Given the description of an element on the screen output the (x, y) to click on. 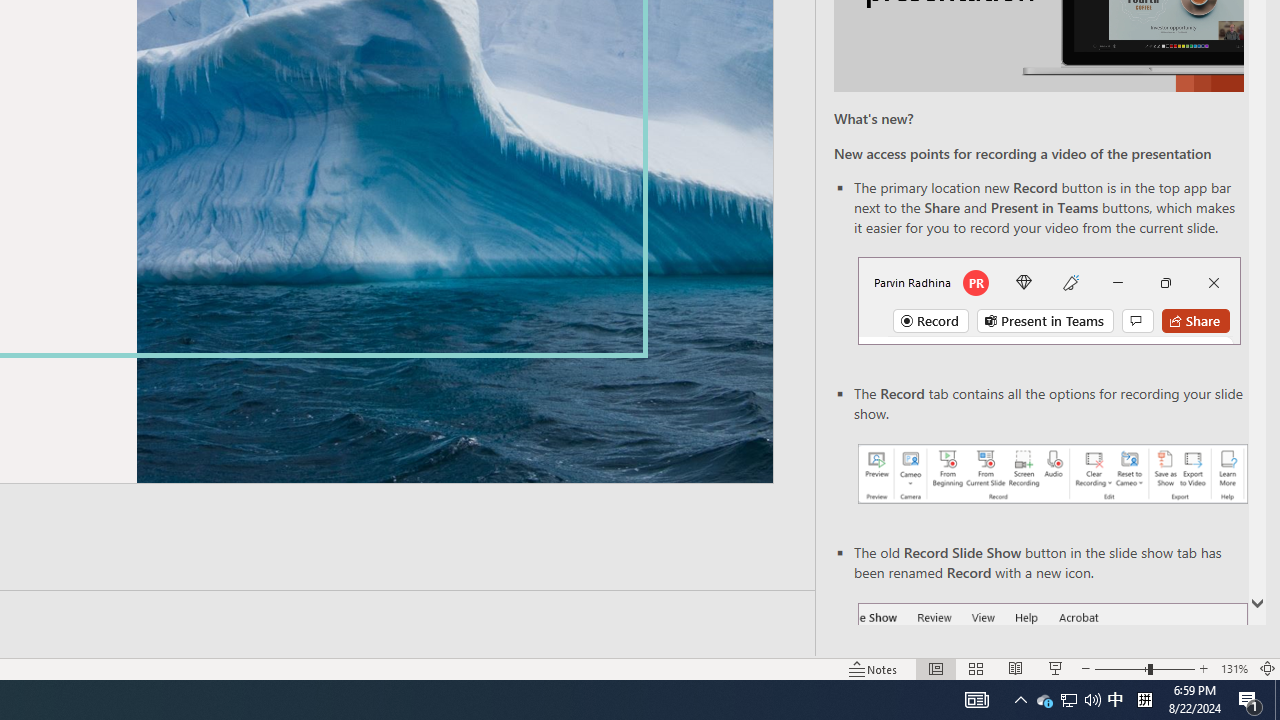
Zoom 131% (1234, 668)
Record your presentations screenshot one (1052, 473)
Record button in top bar (1049, 300)
